Given the description of an element on the screen output the (x, y) to click on. 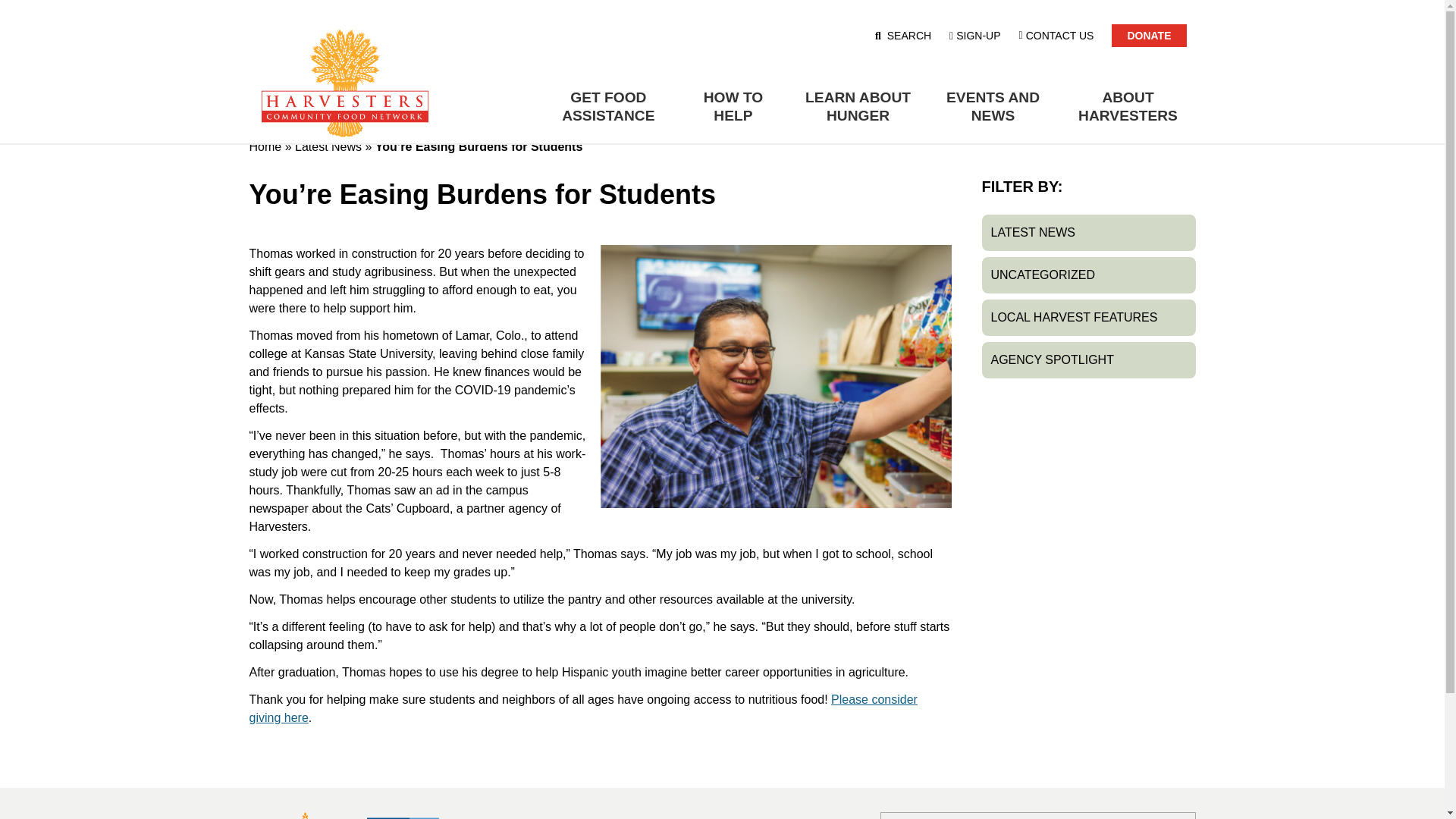
ABOUT HARVESTERS (1128, 106)
SIGN-UP (974, 34)
HOW TO HELP (732, 106)
SIGN-UP (974, 35)
EVENTS AND NEWS (993, 106)
CONTACT US (1056, 35)
GET FOOD ASSISTANCE (607, 106)
DONATE (1149, 35)
DONATE (1149, 35)
SIGN-UP (974, 34)
SEARCH (903, 35)
LEARN ABOUT HUNGER (858, 106)
